Given the description of an element on the screen output the (x, y) to click on. 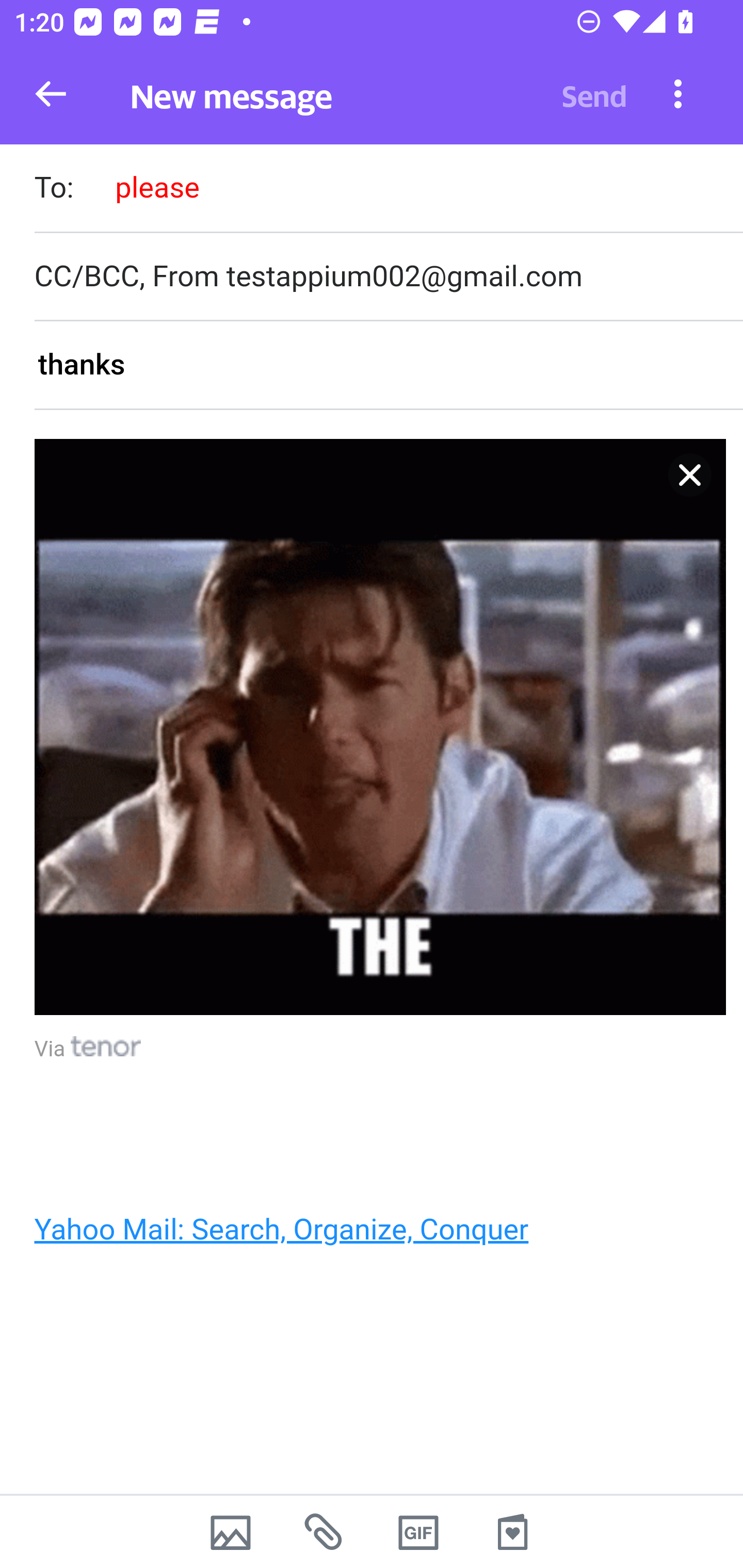
Back (50, 93)
Send (594, 93)
More options (677, 93)
To: please (387, 189)
please (156, 187)
CC/BCC, From testappium002@gmail.com (387, 276)
thanks (387, 365)
Remove attachment (690, 474)
Via  Via  tenor (87, 1049)
Yahoo Mail: Search, Organize, Conquer (280, 1228)
Camera photos (230, 1531)
Recent attachments from mail (324, 1531)
GIFs (417, 1531)
Stationery (512, 1531)
